Given the description of an element on the screen output the (x, y) to click on. 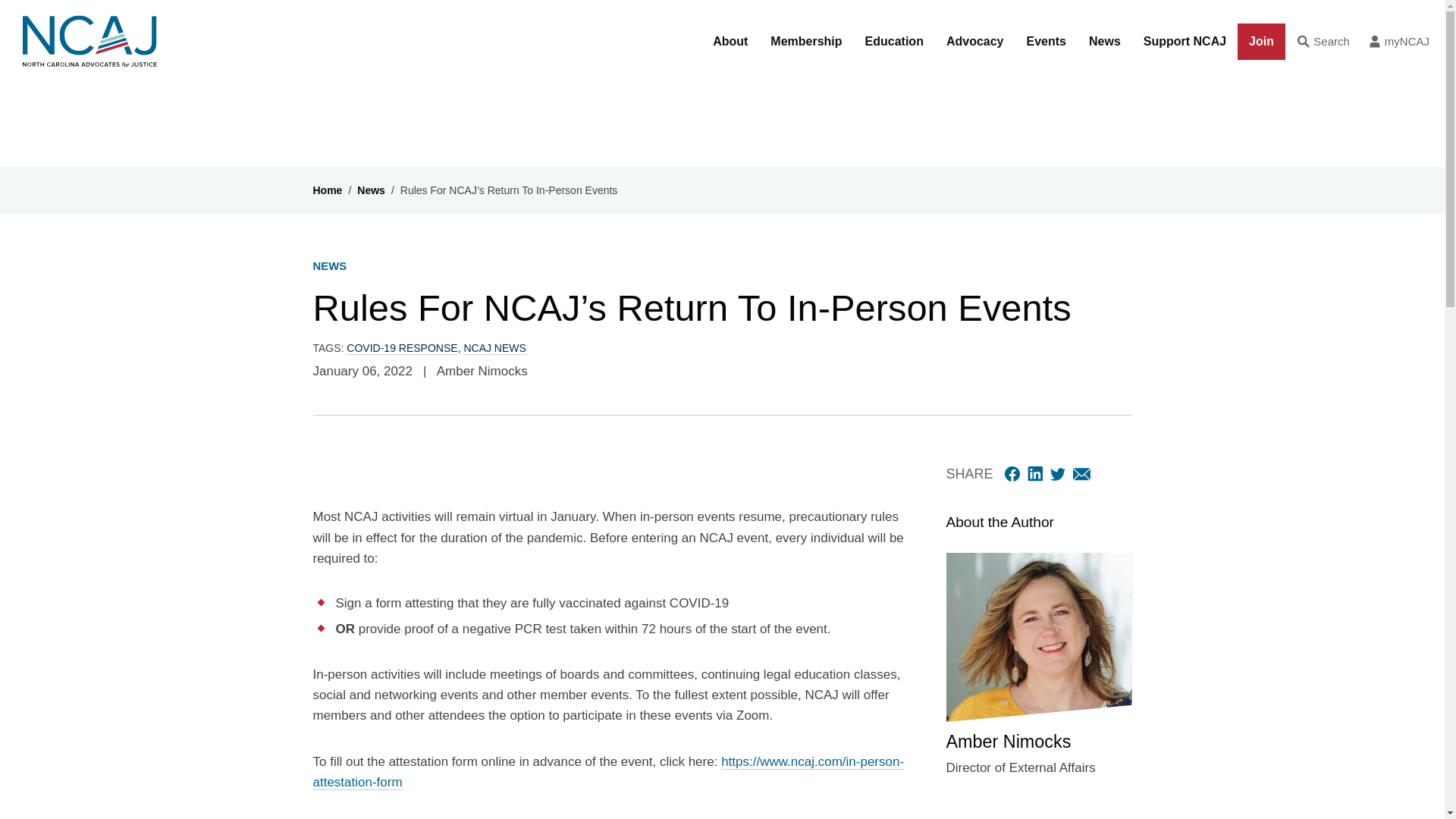
Membership (805, 41)
Education (893, 41)
Events (1045, 41)
About (729, 41)
Advocacy (974, 41)
